Given the description of an element on the screen output the (x, y) to click on. 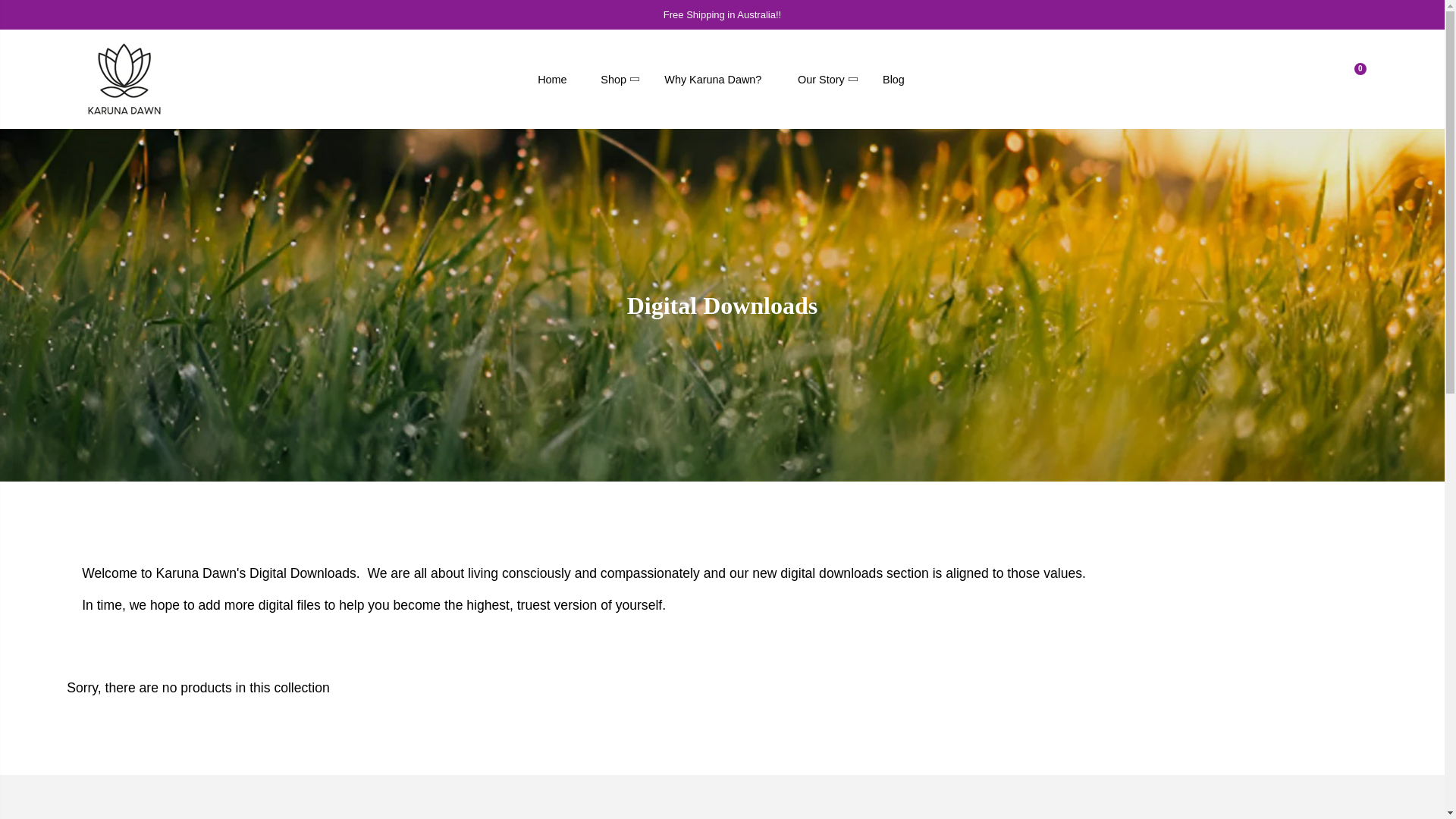
Blog (893, 78)
Why Karuna Dawn? (712, 78)
Shop (614, 78)
Our Story (821, 78)
Home (552, 78)
